Given the description of an element on the screen output the (x, y) to click on. 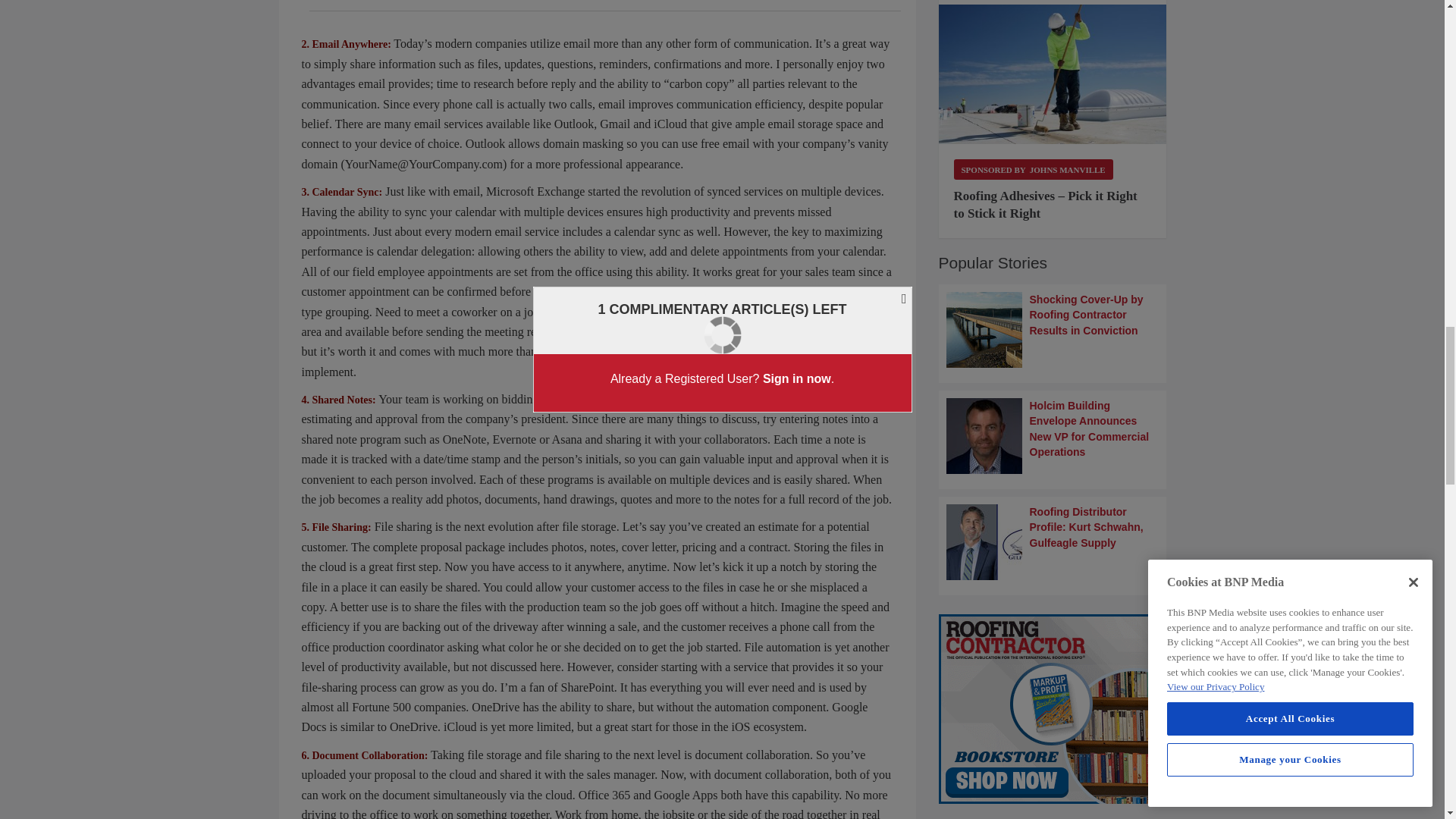
Sponsored by Johns Manville (1033, 168)
Roofing Distributor Profile: Kurt Schwahn, Gulfeagle Supply (1052, 541)
